Given the description of an element on the screen output the (x, y) to click on. 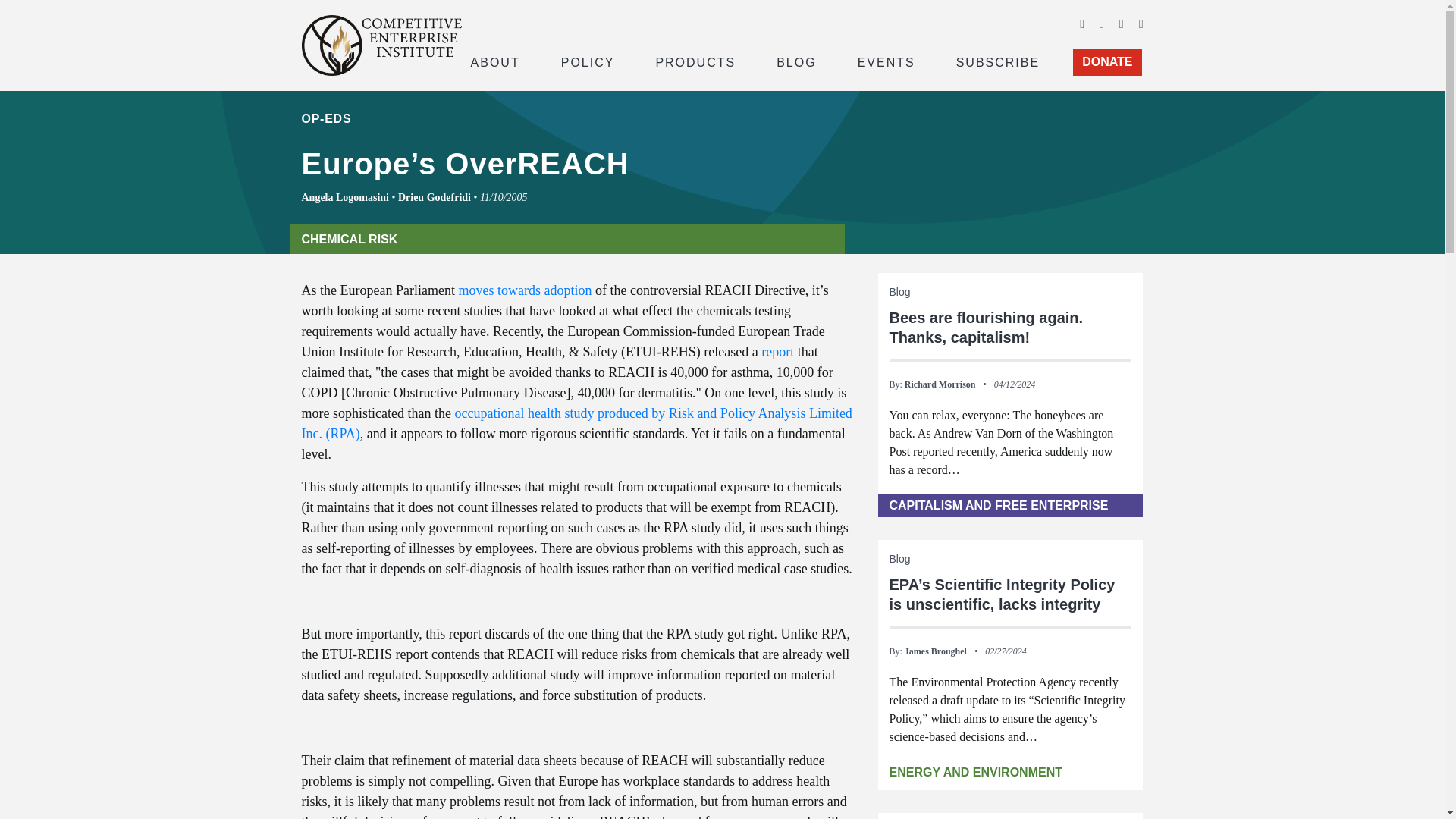
SUBSCRIBE (997, 61)
DONATE (1107, 62)
ABOUT (495, 61)
EVENTS (886, 61)
PRODUCTS (694, 61)
POLICY (588, 61)
BLOG (796, 61)
